Given the description of an element on the screen output the (x, y) to click on. 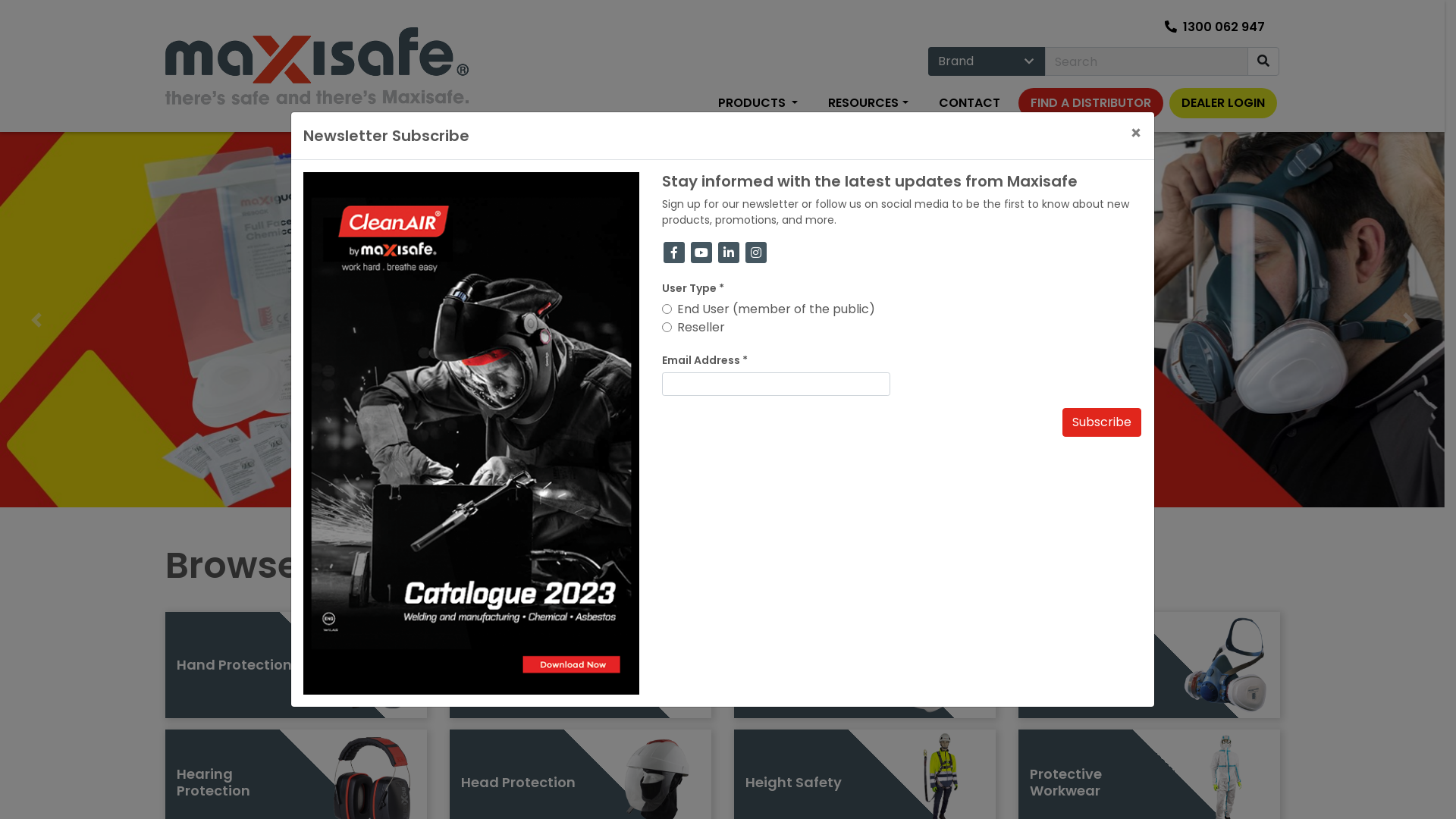
Hand Protection Element type: text (295, 664)
Hand Protection Element type: hover (372, 664)
Respiratory Protection Element type: hover (1224, 664)
  1300 062 947 Element type: text (1214, 27)
Eye Protection Element type: hover (656, 664)
Subscribe Element type: text (1101, 421)
Face Protection Element type: hover (940, 664)
Go Element type: text (1263, 61)
Next Element type: text (1408, 319)
Search Products Element type: hover (1263, 61)
Previous Element type: text (36, 319)
PRODUCTS Element type: text (757, 103)
CONTACT Element type: text (969, 103)
Eye Protection Element type: text (579, 664)
Respiratory Protection Element type: text (1148, 664)
Face Protection Element type: text (864, 664)
Brand Element type: text (986, 61)
RESOURCES Element type: text (867, 103)
DEALER LOGIN Element type: text (1223, 102)
FIND A DISTRIBUTOR Element type: text (1089, 102)
Techware Pty Ltd Home Element type: hover (316, 65)
